Given the description of an element on the screen output the (x, y) to click on. 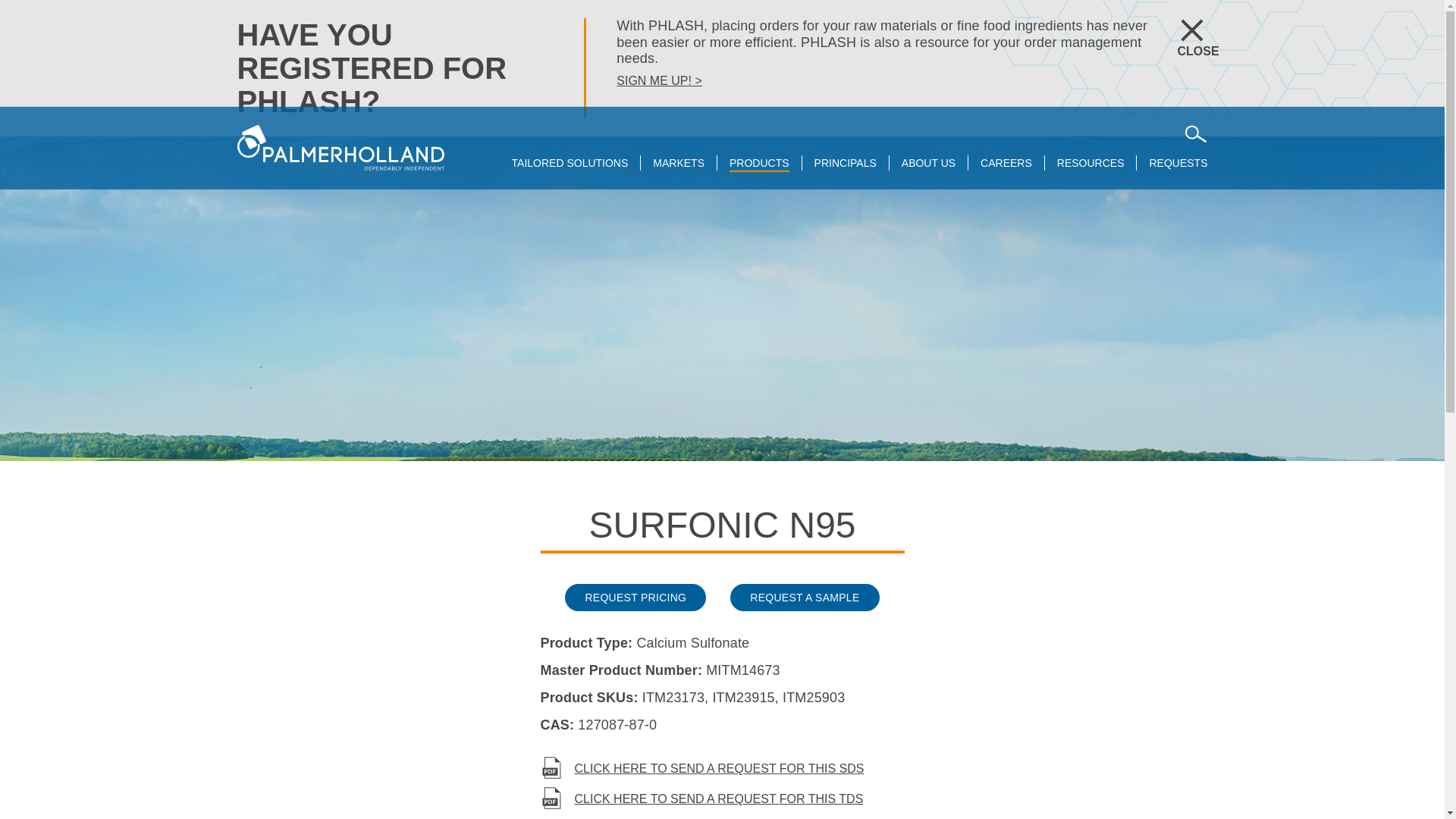
TAILORED SOLUTIONS (570, 164)
CAREERS (1005, 164)
CLICK HERE TO SEND A REQUEST FOR THIS SDS (722, 768)
REQUEST PRICING (635, 596)
SIGN ME UP! (658, 80)
CLOSE (1180, 30)
REQUESTS (1177, 164)
ABOUT US (928, 164)
REQUEST A SAMPLE (804, 596)
PRINCIPALS (844, 164)
CLICK HERE TO SEND A REQUEST FOR THIS TDS (722, 799)
MARKETS (678, 164)
RESOURCES (1090, 164)
PRODUCTS (759, 164)
